Given the description of an element on the screen output the (x, y) to click on. 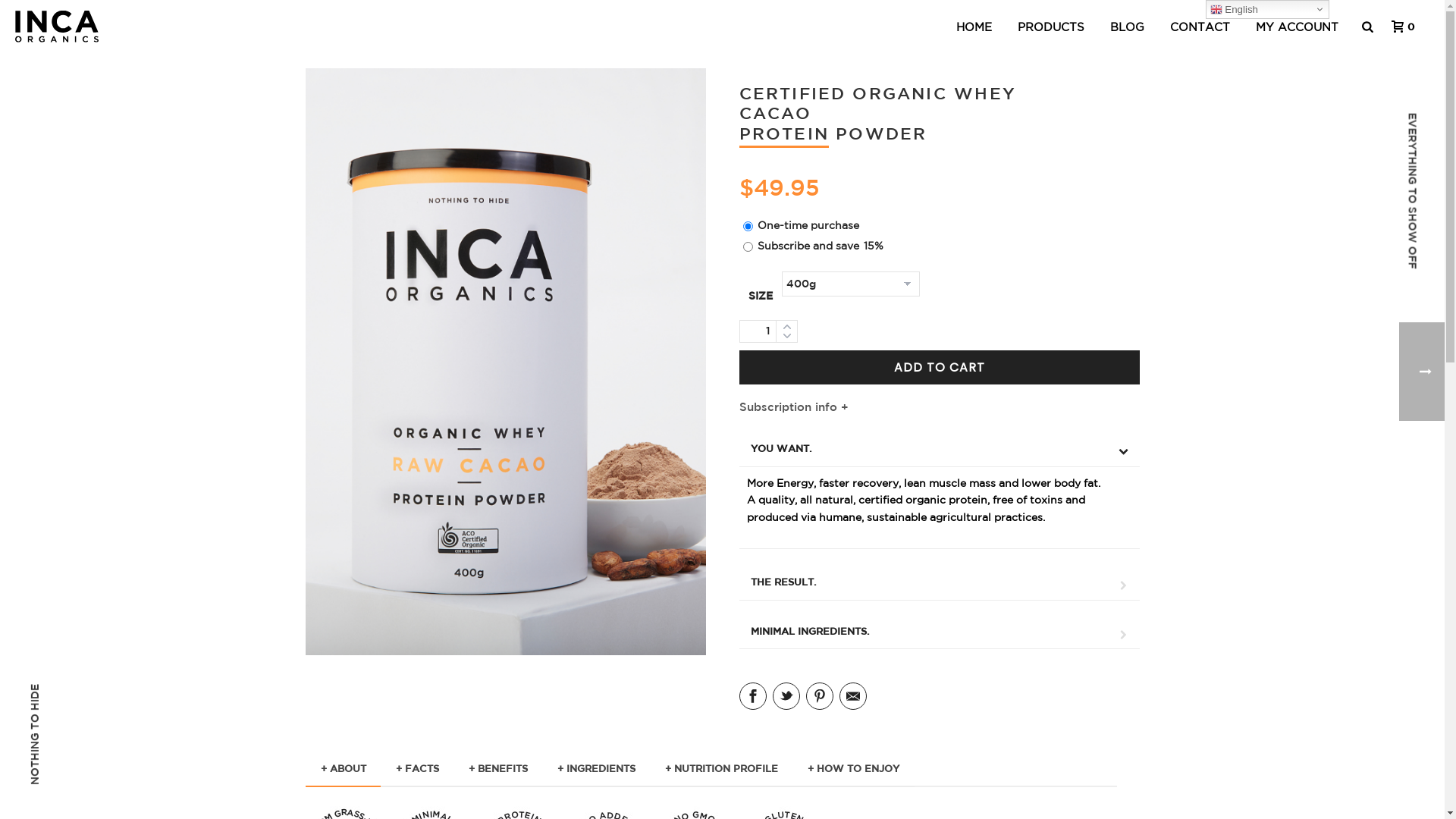
+ ABOUT Element type: text (342, 769)
+ BENEFITS Element type: text (497, 769)
HOME Element type: text (973, 27)
+ HOW TO ENJOY Element type: text (852, 769)
English Element type: text (1267, 9)
whey-cacao-400g Element type: hover (504, 361)
PRODUCTS Element type: text (1050, 27)
+ FACTS Element type: text (417, 769)
BLOG Element type: text (1127, 27)
0 Element type: text (1398, 26)
+ INGREDIENTS Element type: text (595, 769)
ADD TO CART Element type: text (938, 367)
Qty Element type: hover (767, 331)
+ NUTRITION PROFILE Element type: text (720, 769)
CONTACT Element type: text (1199, 27)
MY ACCOUNT Element type: text (1296, 27)
